Given the description of an element on the screen output the (x, y) to click on. 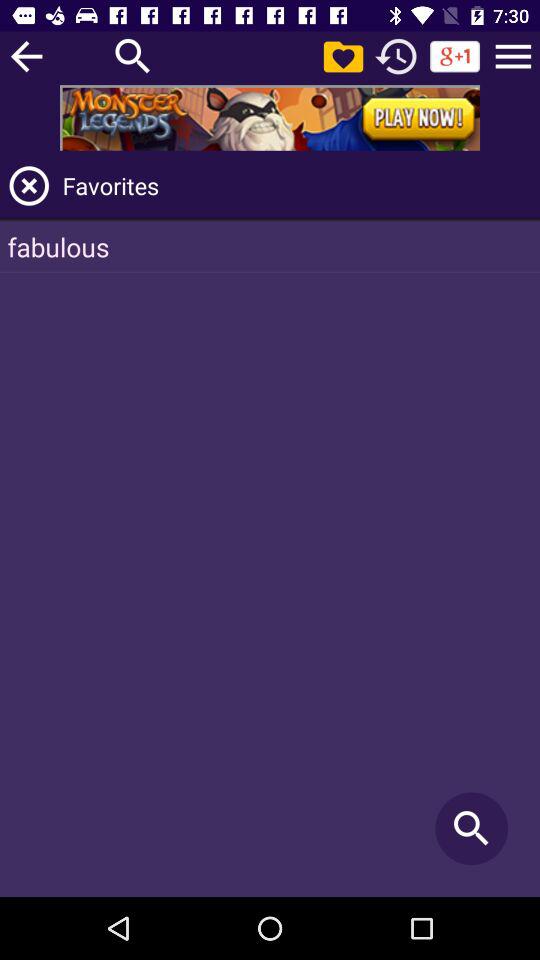
close favourites (29, 185)
